Given the description of an element on the screen output the (x, y) to click on. 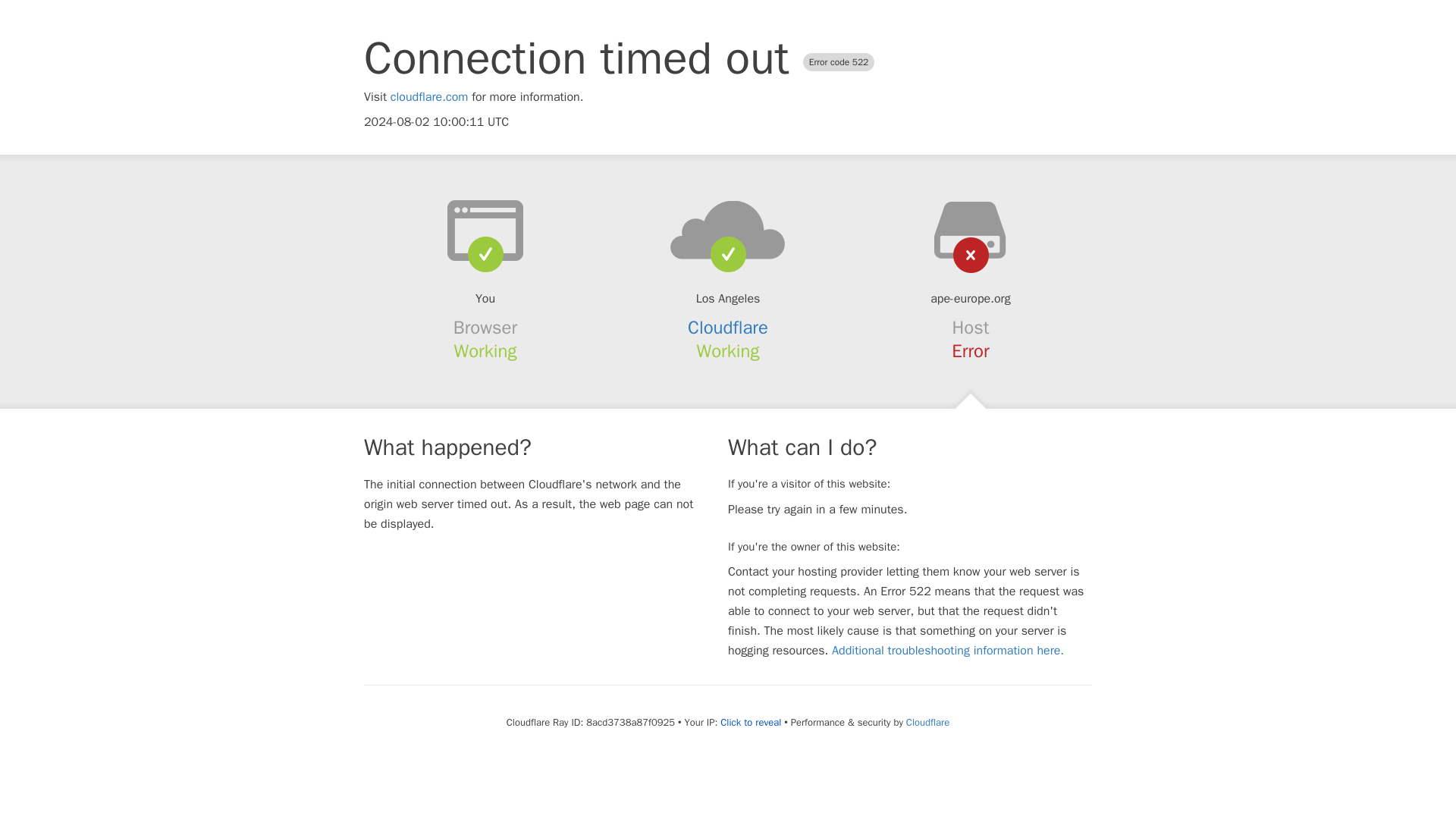
cloudflare.com (429, 96)
Cloudflare (727, 327)
Click to reveal (750, 722)
Cloudflare (927, 721)
Additional troubleshooting information here. (947, 650)
